Given the description of an element on the screen output the (x, y) to click on. 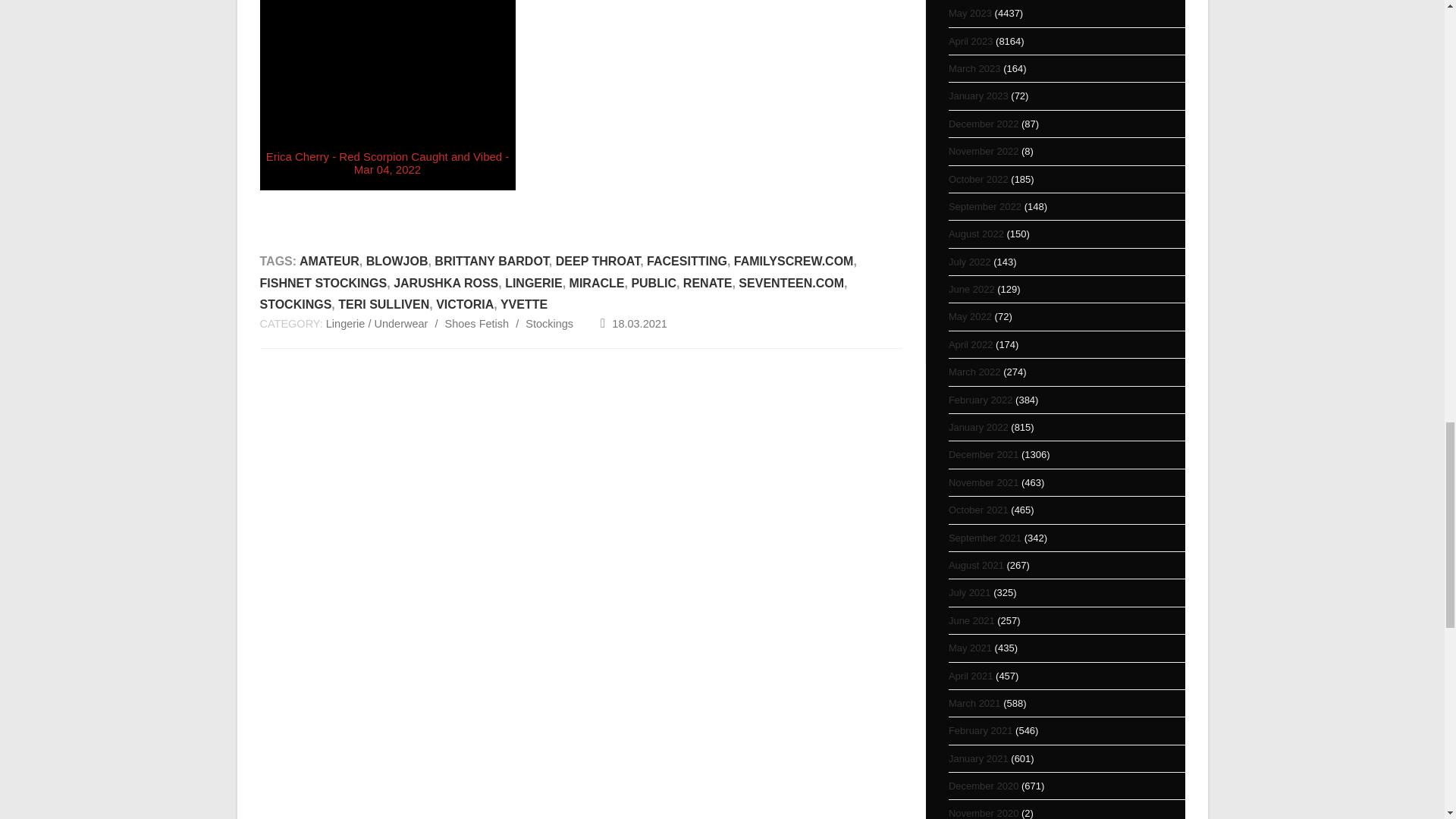
FAMILYSCREW.COM (793, 260)
FACESITTING (686, 260)
BRITTANY BARDOT (490, 260)
LINGERIE (533, 282)
BLOWJOB (397, 260)
FISHNET STOCKINGS (323, 282)
DEEP THROAT (598, 260)
MIRACLE (596, 282)
AMATEUR (329, 260)
PUBLIC (653, 282)
